Given the description of an element on the screen output the (x, y) to click on. 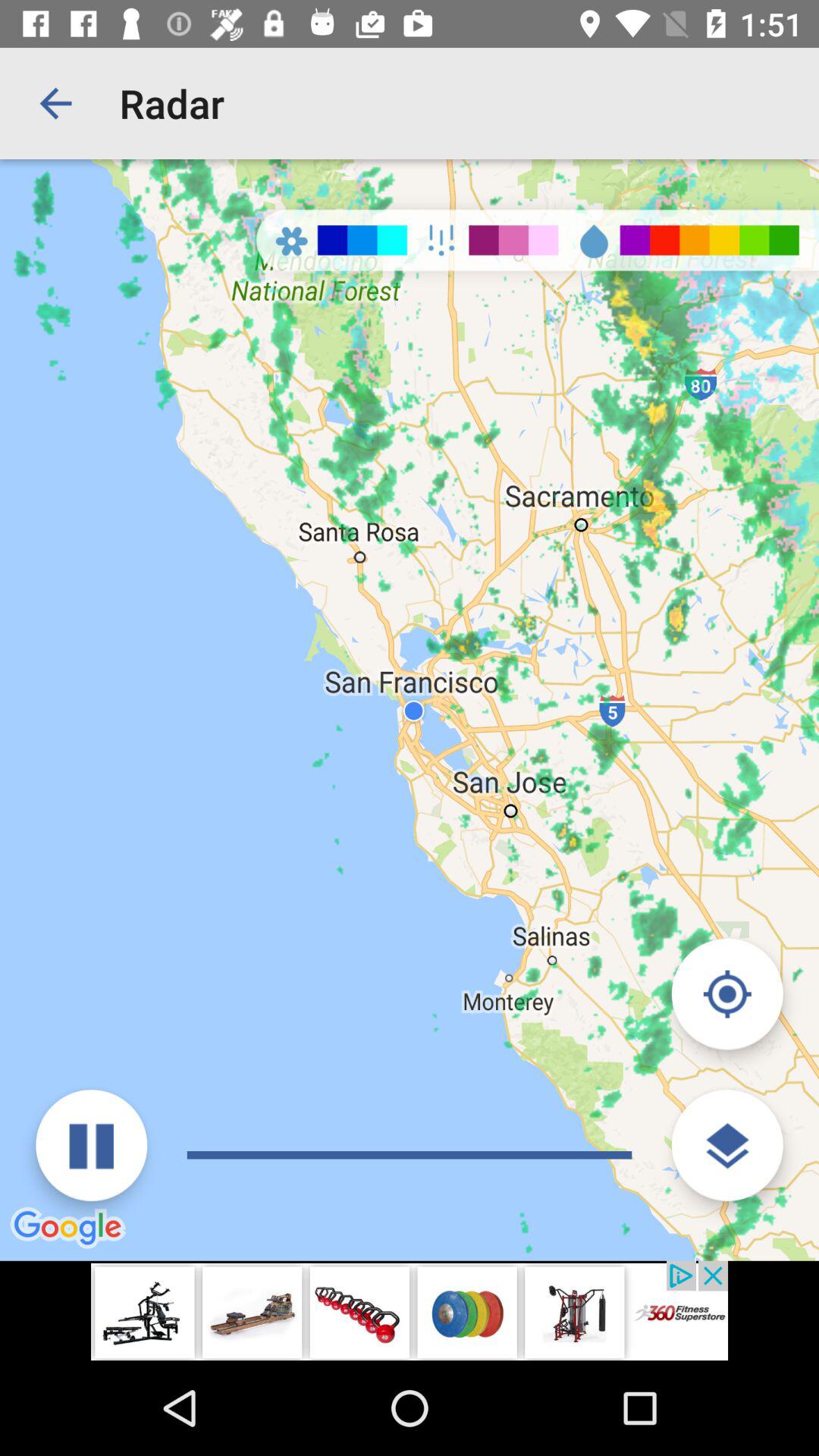
return to current location (727, 993)
